Given the description of an element on the screen output the (x, y) to click on. 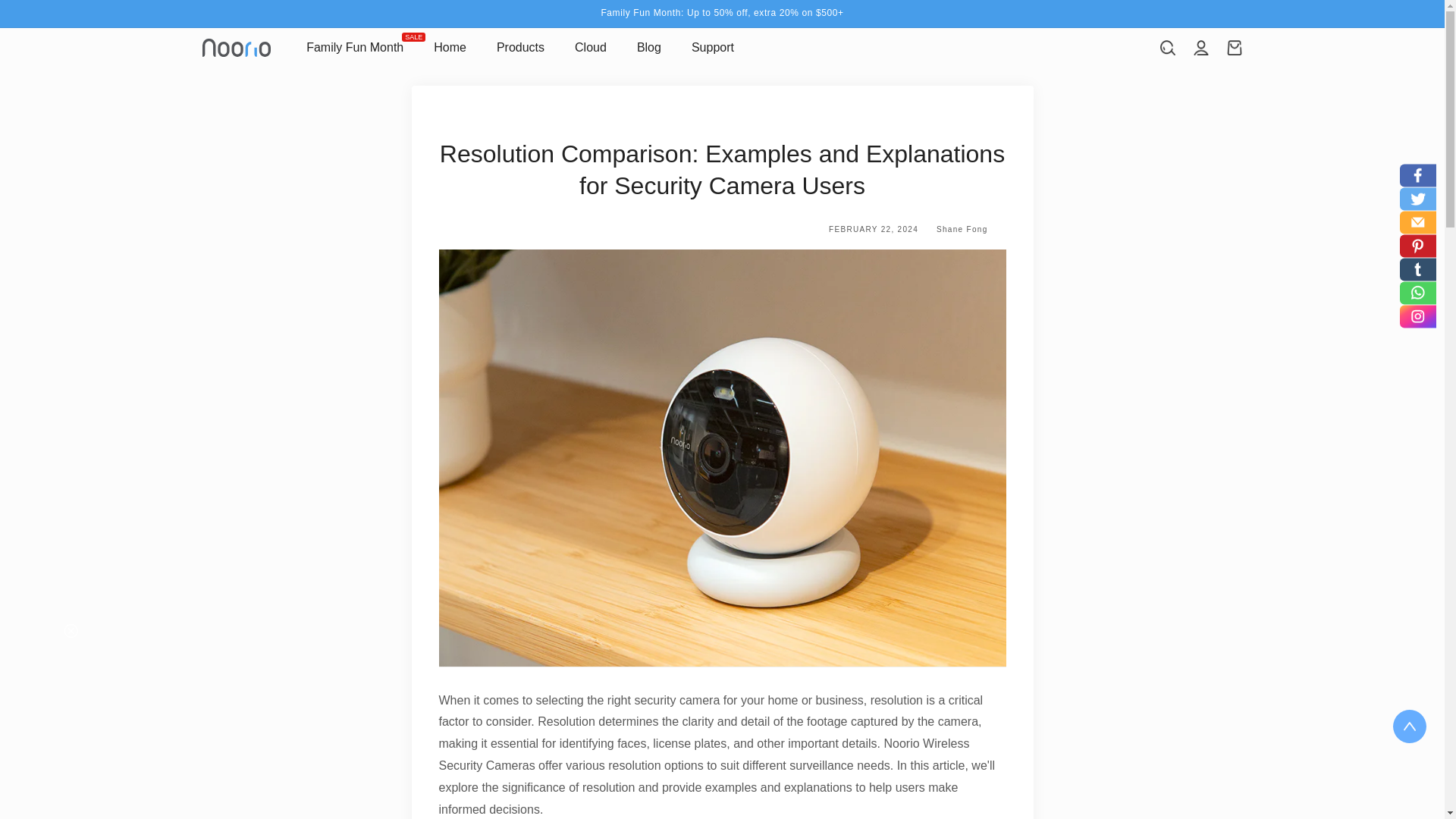
Skip to content (45, 17)
